Given the description of an element on the screen output the (x, y) to click on. 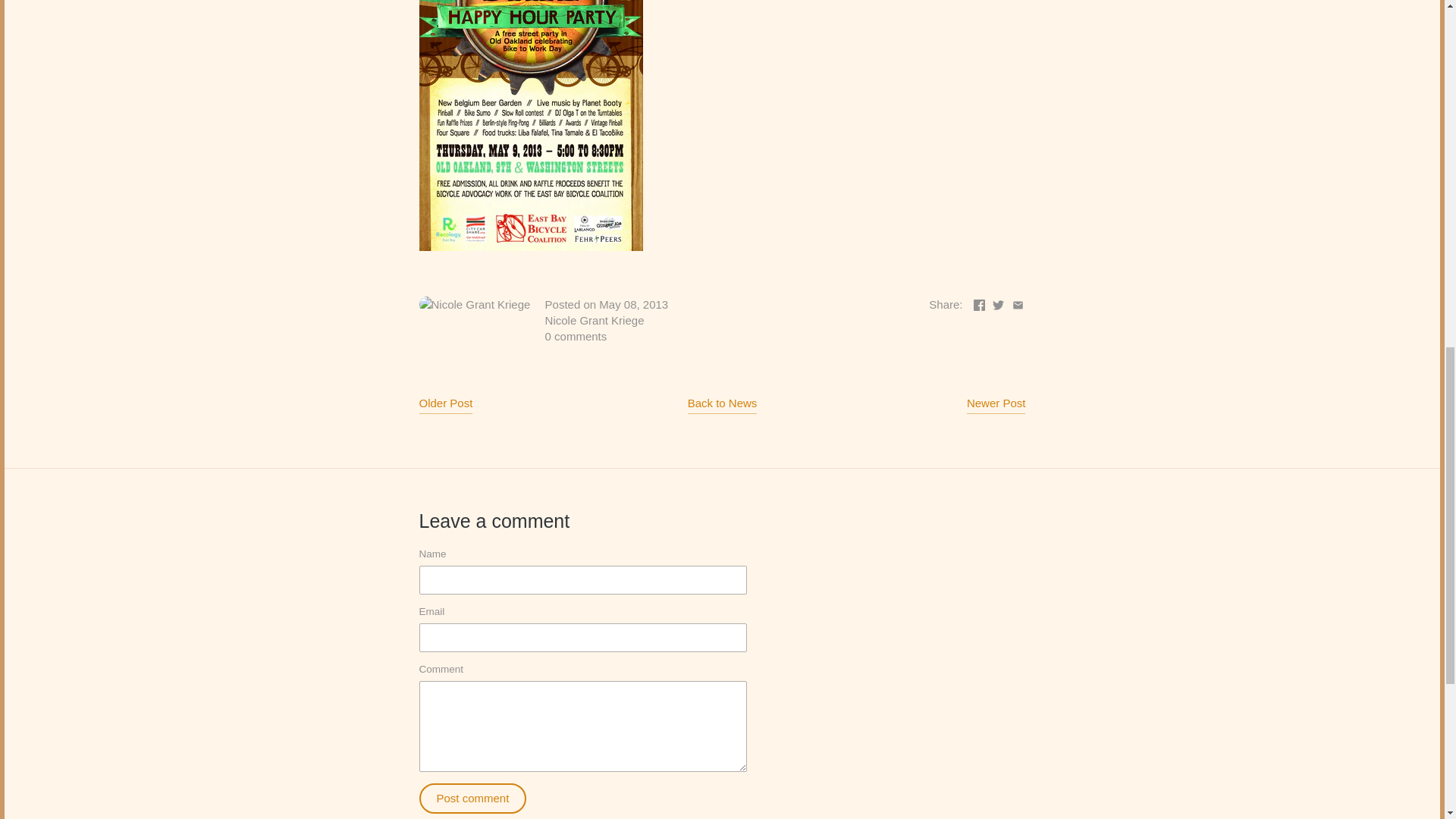
Email (1017, 305)
Older Post (445, 405)
Post comment (472, 797)
Twitter (998, 305)
Back to News (722, 405)
Post comment (472, 797)
Newer Post (996, 405)
Facebook (979, 305)
